Given the description of an element on the screen output the (x, y) to click on. 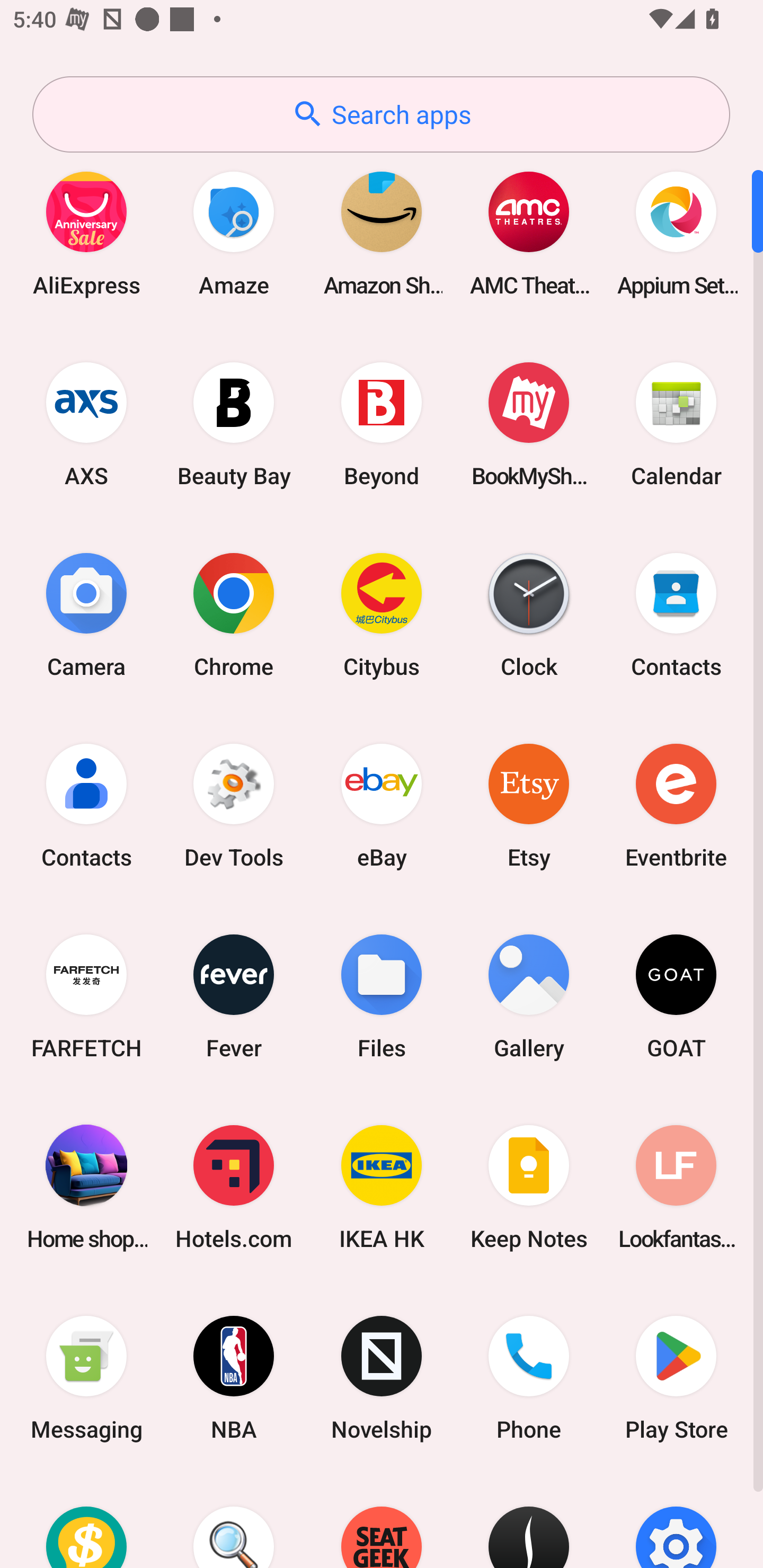
  Search apps (381, 114)
AliExpress (86, 233)
Amaze (233, 233)
Amazon Shopping (381, 233)
AMC Theatres (528, 233)
Appium Settings (676, 233)
AXS (86, 424)
Beauty Bay (233, 424)
Beyond (381, 424)
BookMyShow (528, 424)
Calendar (676, 424)
Camera (86, 614)
Chrome (233, 614)
Citybus (381, 614)
Clock (528, 614)
Contacts (676, 614)
Contacts (86, 805)
Dev Tools (233, 805)
eBay (381, 805)
Etsy (528, 805)
Eventbrite (676, 805)
FARFETCH (86, 996)
Fever (233, 996)
Files (381, 996)
Gallery (528, 996)
GOAT (676, 996)
Home shopping (86, 1186)
Hotels.com (233, 1186)
IKEA HK (381, 1186)
Keep Notes (528, 1186)
Lookfantastic (676, 1186)
Messaging (86, 1377)
NBA (233, 1377)
Novelship (381, 1377)
Phone (528, 1377)
Play Store (676, 1377)
Price (86, 1520)
Search (233, 1520)
SeatGeek (381, 1520)
Sephora (528, 1520)
Settings (676, 1520)
